Given the description of an element on the screen output the (x, y) to click on. 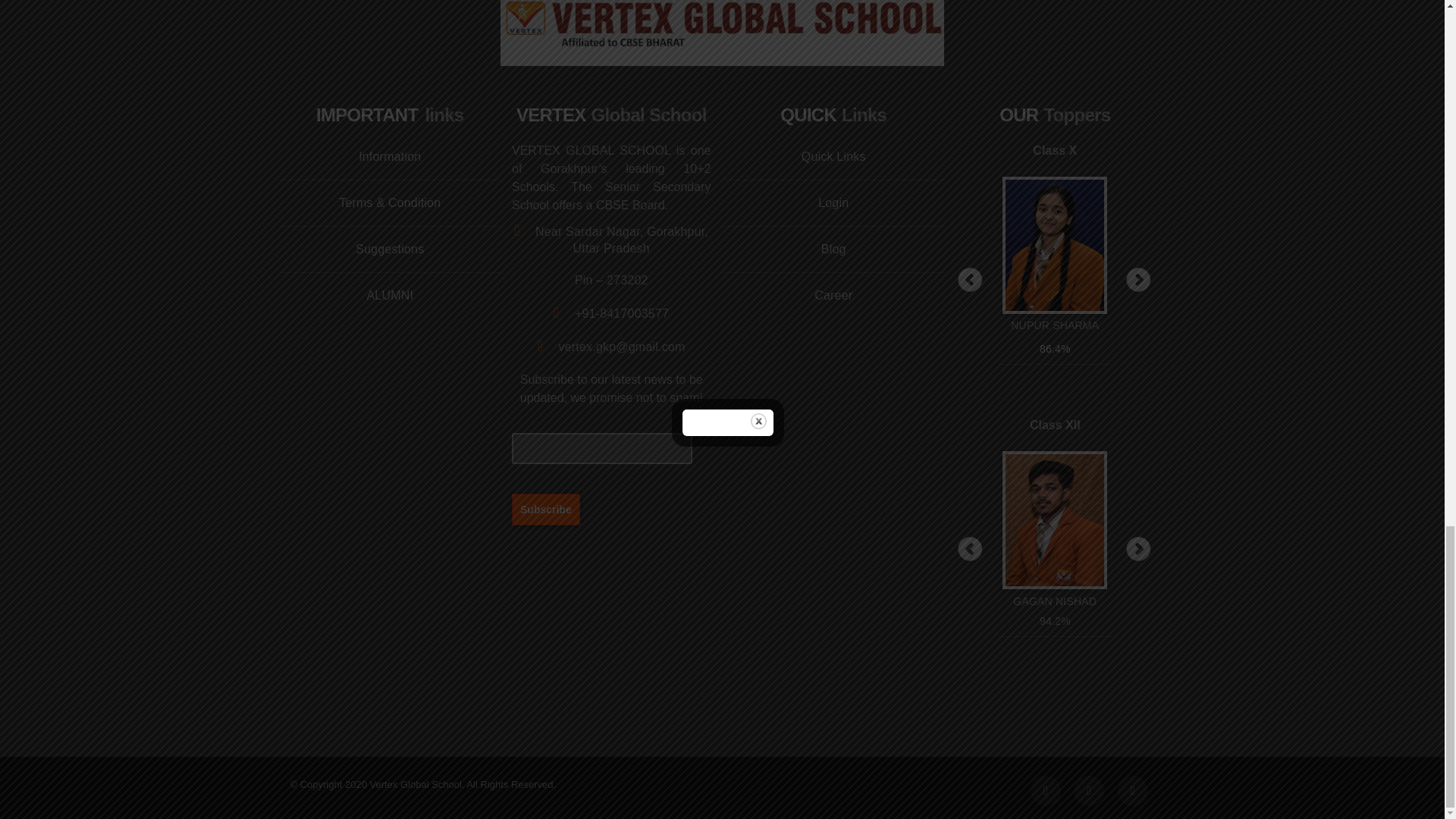
Subscribe (545, 508)
